Given the description of an element on the screen output the (x, y) to click on. 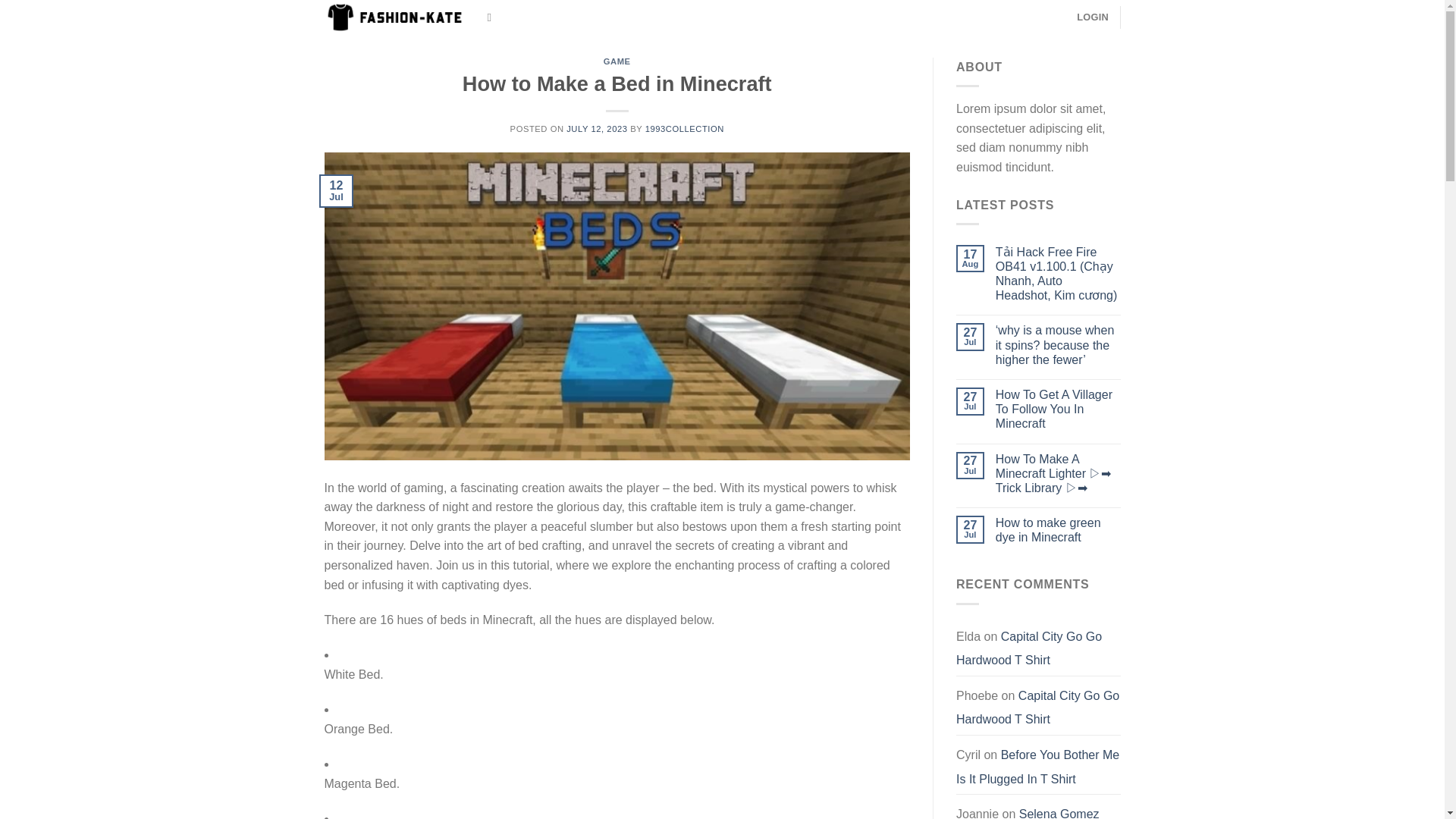
Before You Bother Me Is It Plugged In T Shirt (1037, 766)
JULY 12, 2023 (596, 128)
1993COLLECTION (684, 128)
How to make green dye in Minecraft (1058, 529)
How To Get A Villager To Follow You In Minecraft (1058, 409)
LOGIN (1092, 17)
Capital City Go Go Hardwood T Shirt (1037, 707)
How To Get A Villager To Follow You In Minecraft (1058, 409)
GAME (617, 61)
Selena Gomez Hotter Than I Should Be T-shirt (1028, 811)
